Given the description of an element on the screen output the (x, y) to click on. 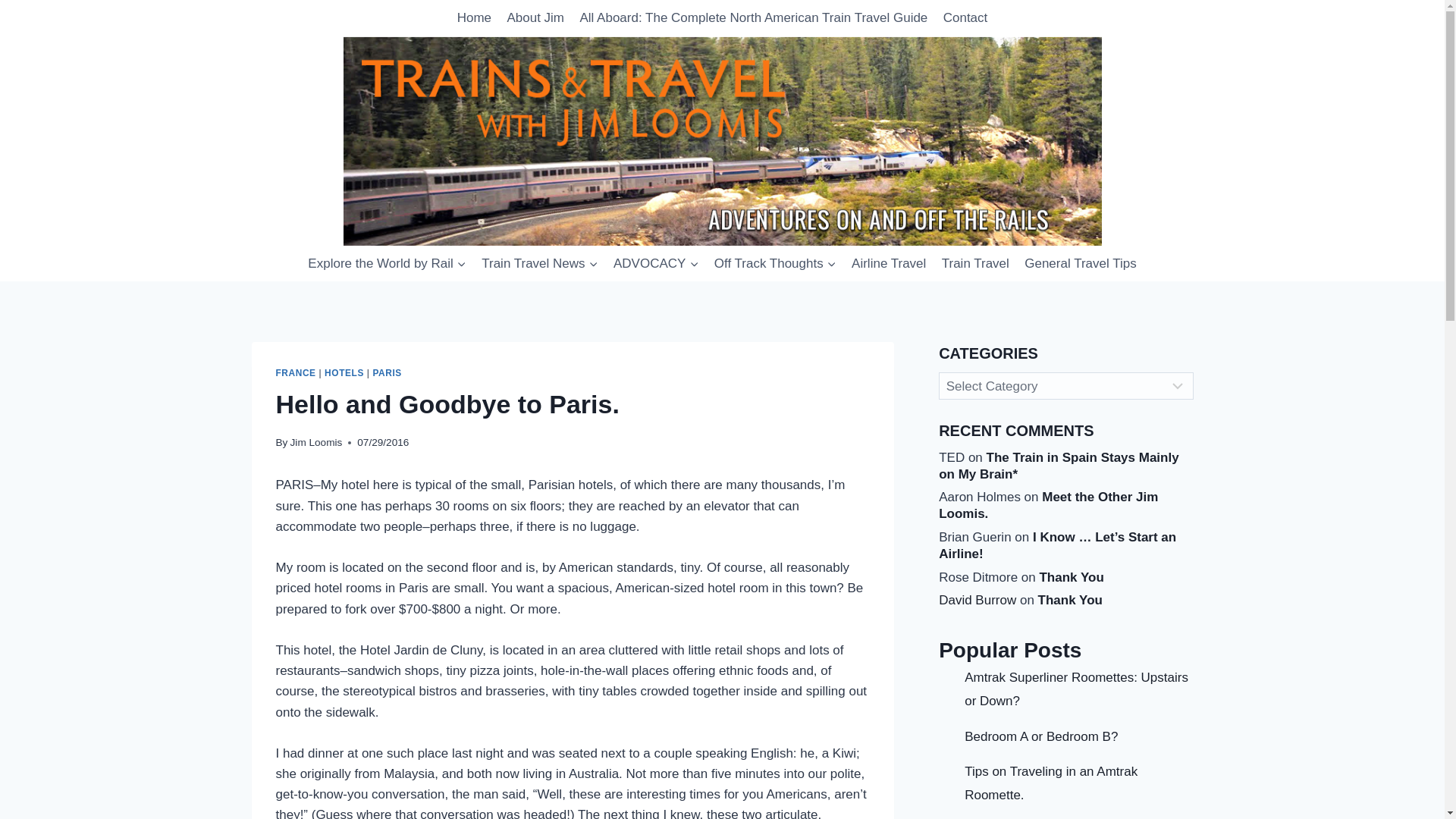
Train Travel News (539, 263)
Jim Loomis (315, 441)
Train Travel (975, 263)
HOTELS (344, 372)
PARIS (386, 372)
Contact (965, 18)
Explore the World by Rail (386, 263)
About Jim (535, 18)
Home (474, 18)
ADVOCACY (655, 263)
All Aboard: The Complete North American Train Travel Guide (753, 18)
Off Track Thoughts (775, 263)
General Travel Tips (1080, 263)
Airline Travel (889, 263)
FRANCE (295, 372)
